Given the description of an element on the screen output the (x, y) to click on. 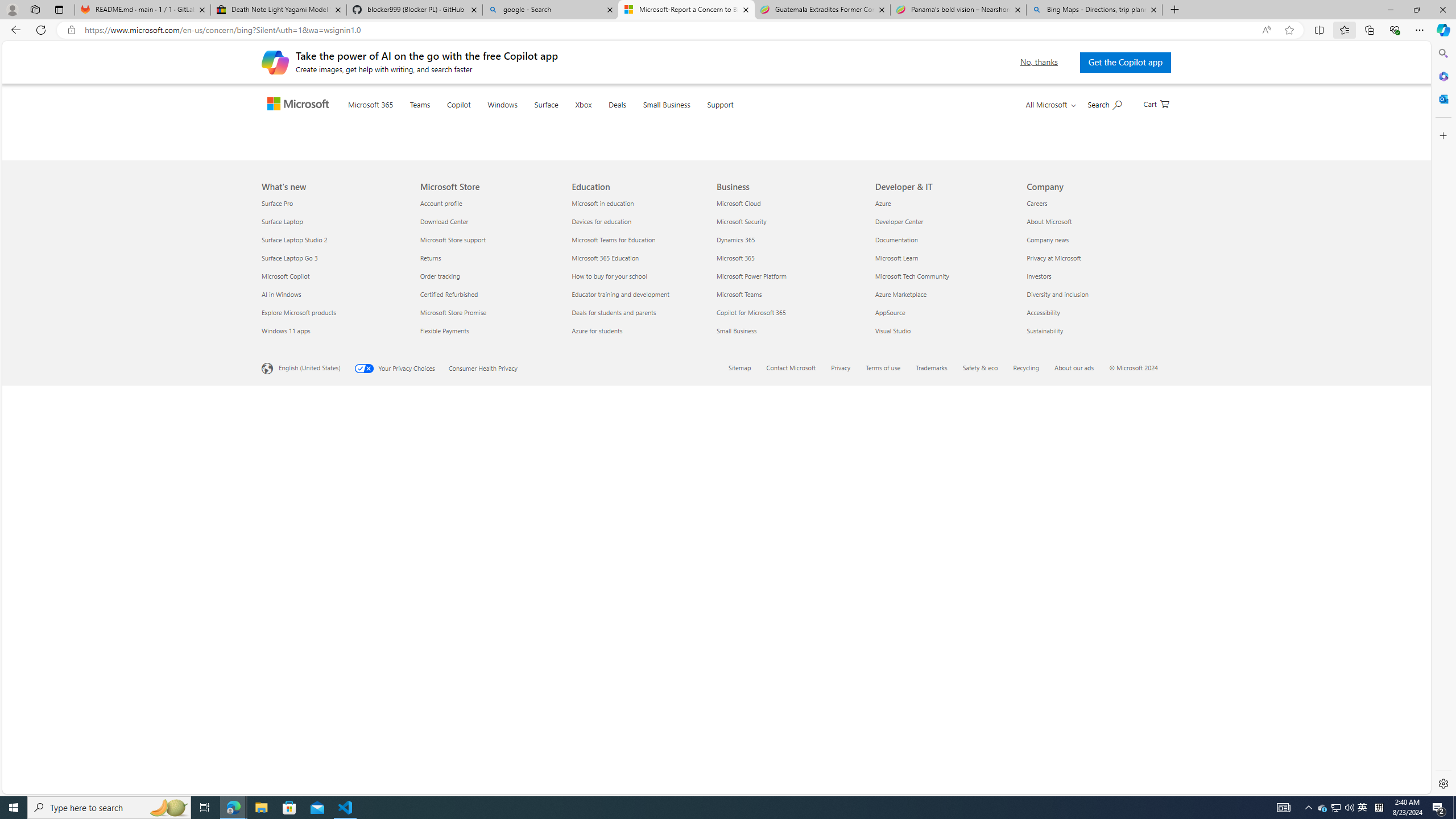
Flexible Payments Microsoft Store (443, 730)
Copilot for Microsoft 365 Business (751, 712)
Deals for students and parents (641, 712)
Microsoft Power Platform Business (751, 675)
Create images, get help with writing, and search faster (275, 62)
Deals (640, 118)
Small Business (689, 118)
Surface Laptop Go 3 What's new (289, 657)
Microsoft (300, 105)
